Given the description of an element on the screen output the (x, y) to click on. 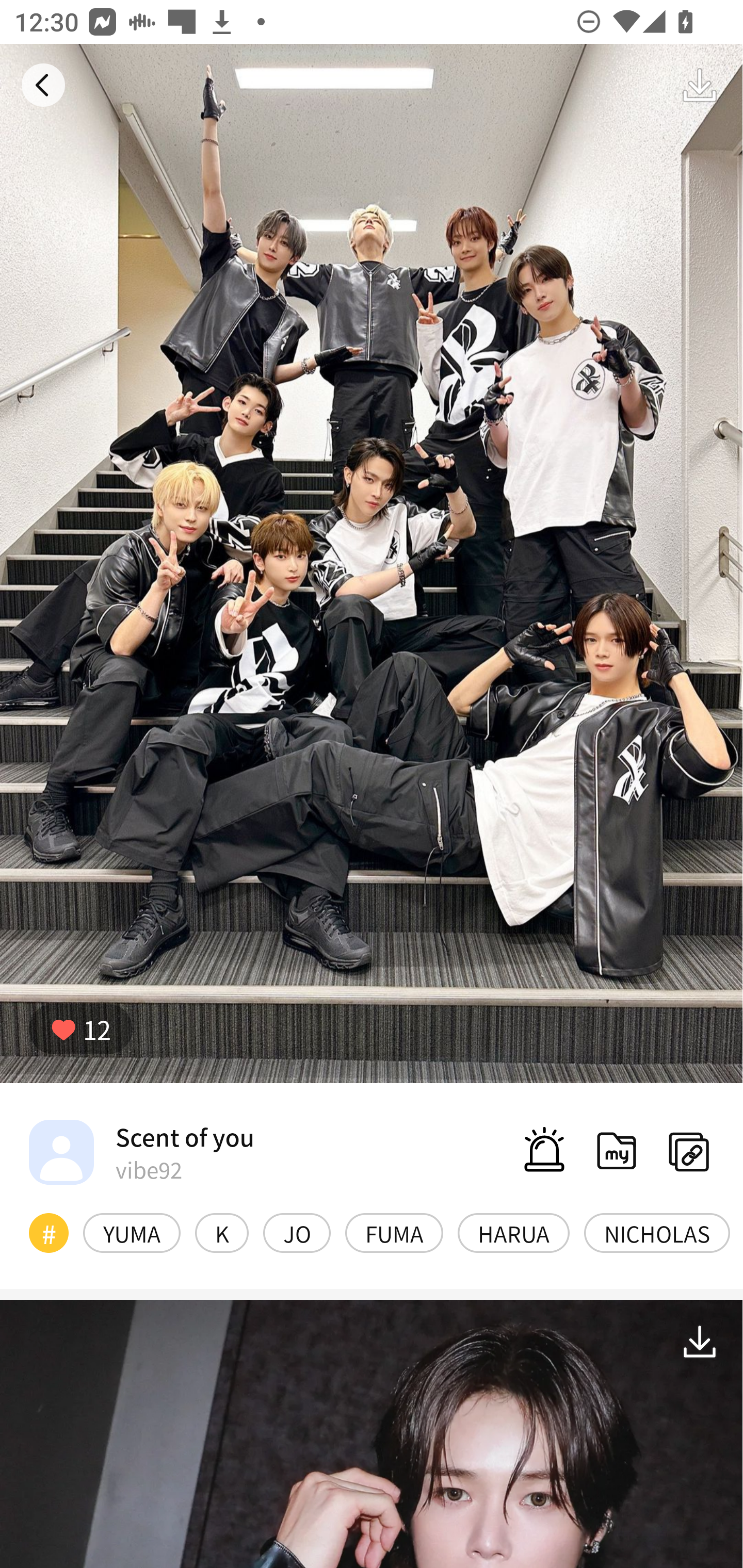
12 (80, 1029)
Scent of you vibe92 (141, 1151)
YUMA (131, 1232)
K (221, 1232)
JO (296, 1232)
FUMA (394, 1232)
HARUA (513, 1232)
NICHOLAS (656, 1232)
